Given the description of an element on the screen output the (x, y) to click on. 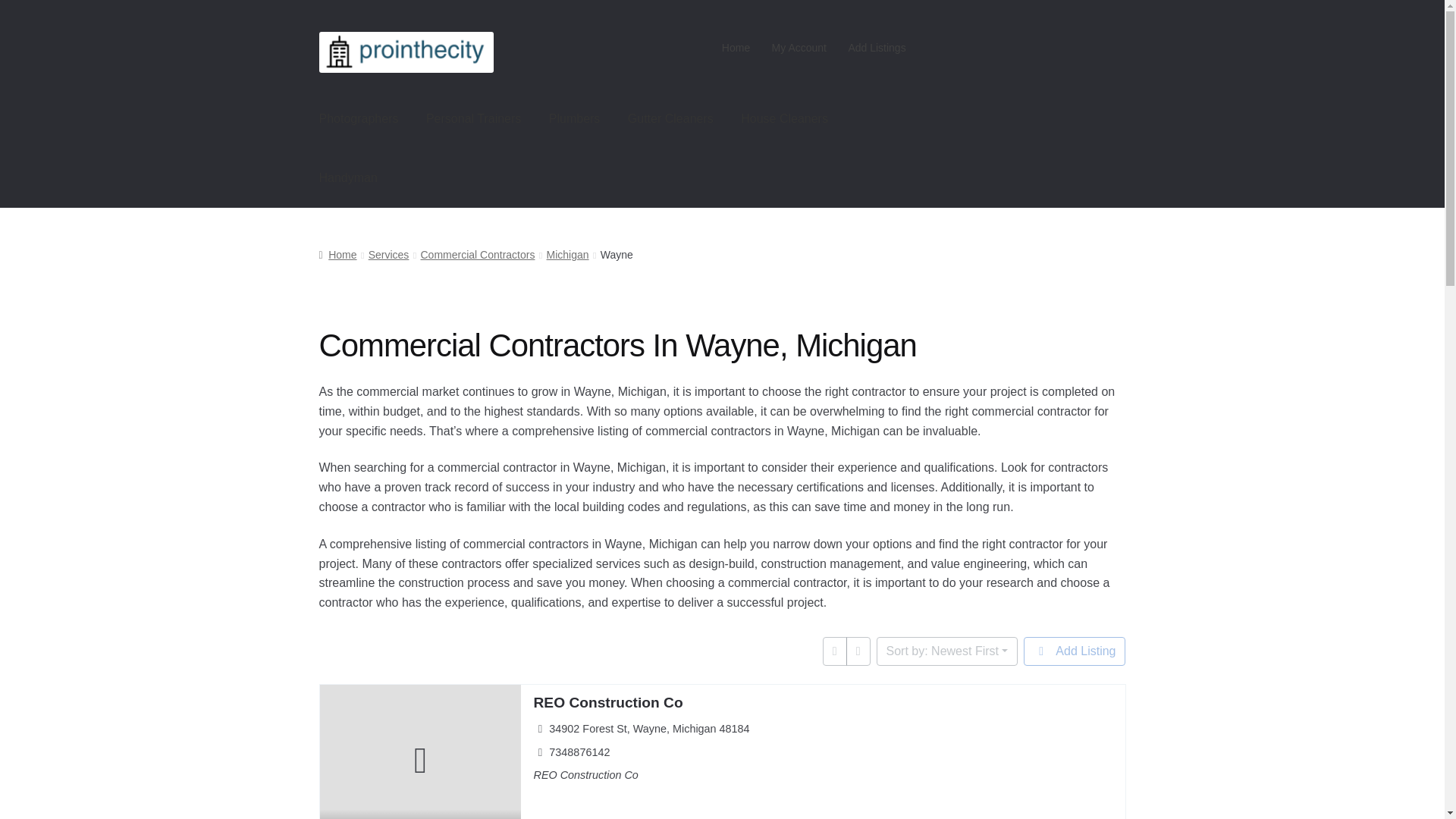
Add Listings (876, 47)
Photographers (358, 118)
Commercial Contractors (477, 254)
Home (736, 47)
My Account (798, 47)
Personal Trainers (472, 118)
Handyman (348, 178)
Gutter Cleaners (670, 118)
Bookmark (331, 813)
Add Listing (1074, 651)
Michigan (568, 254)
Home (337, 254)
Services (388, 254)
REO Construction Co (607, 702)
